Given the description of an element on the screen output the (x, y) to click on. 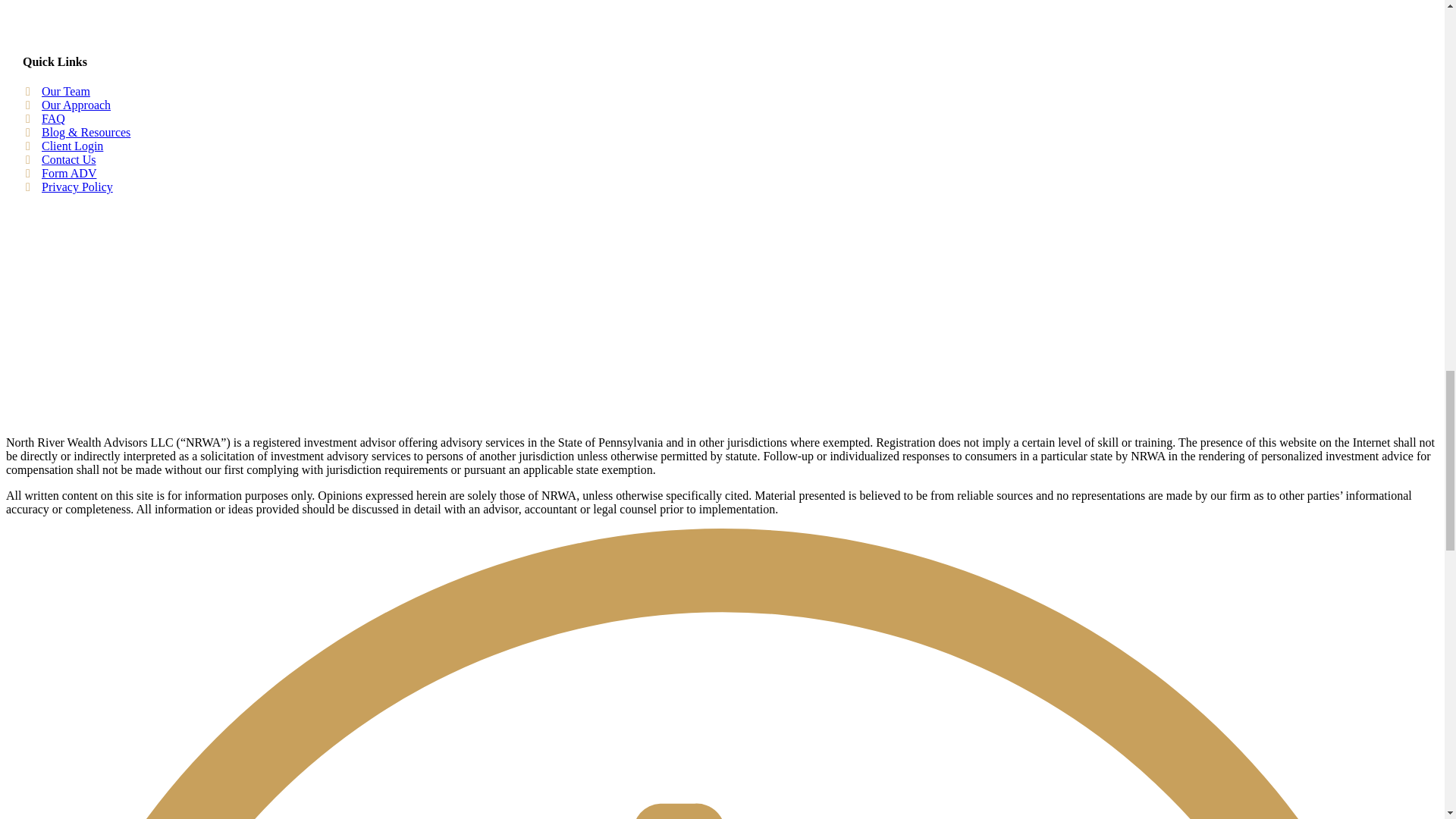
Our Approach (76, 104)
Client Login (72, 145)
Privacy Policy (77, 186)
Our Team (66, 91)
Form ADV (69, 173)
Contact Us (69, 159)
FAQ (53, 118)
